Given the description of an element on the screen output the (x, y) to click on. 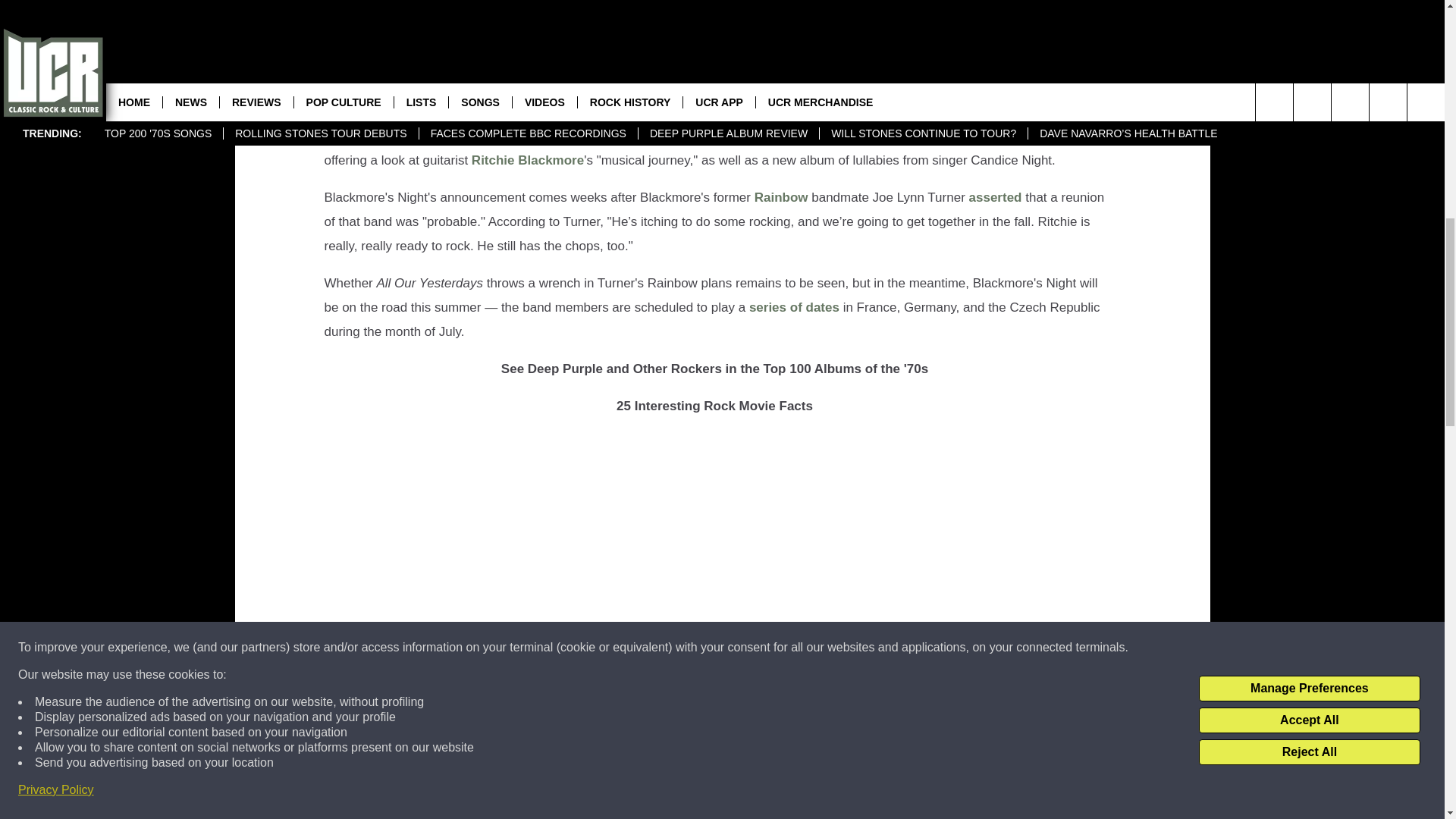
website (484, 135)
series of dates (794, 307)
NEXT: TOP 10 RITCHIE BLACKMORE SONGS (714, 801)
asserted (995, 197)
Rainbow (781, 197)
Ritchie Blackmore (527, 160)
